Given the description of an element on the screen output the (x, y) to click on. 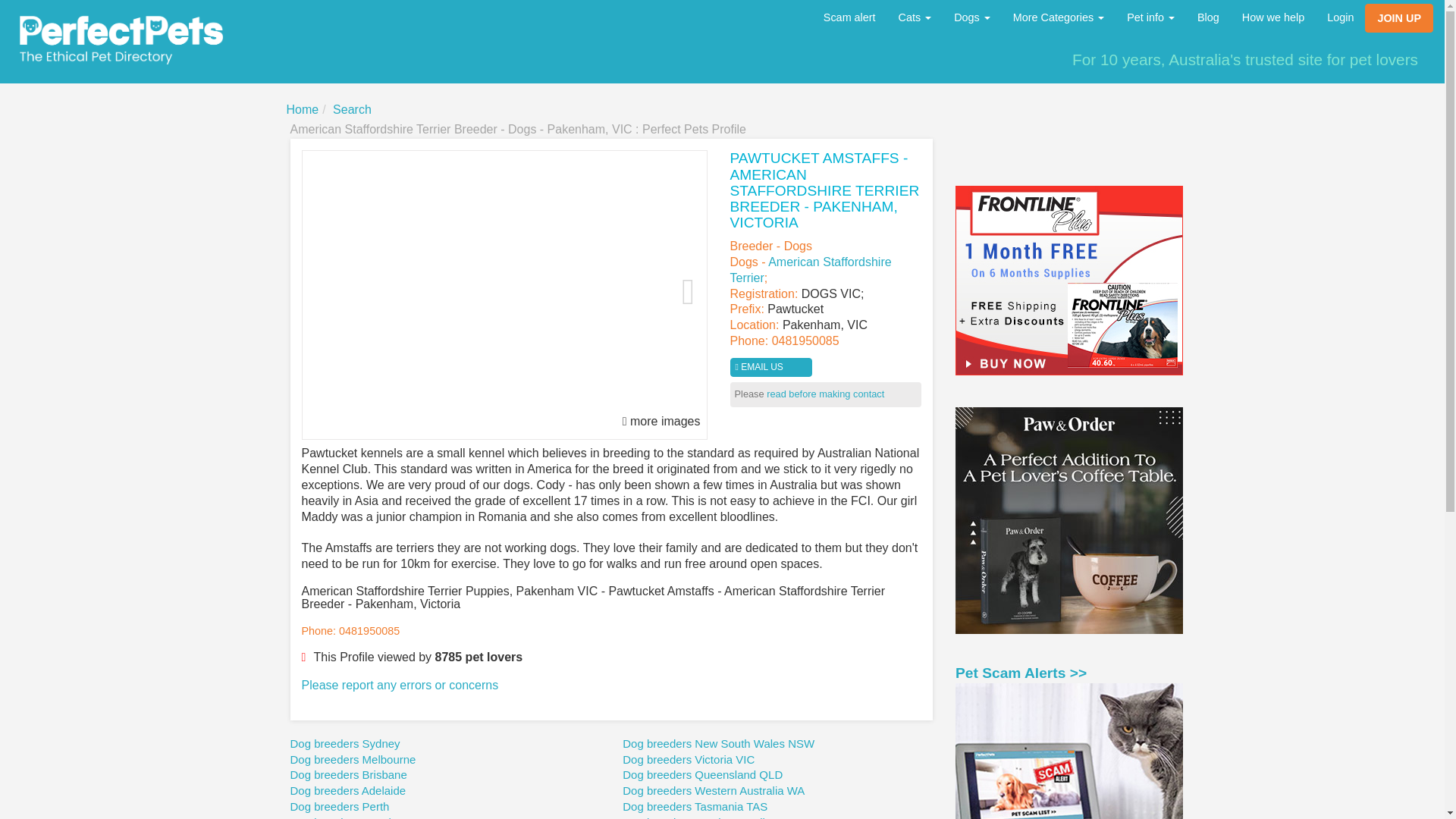
Home (302, 109)
Login (1340, 17)
more images (661, 421)
Pet info (1150, 17)
JOIN UP (1398, 18)
Dogs (971, 17)
Blog (1208, 17)
How we help (1273, 17)
Scam alert (849, 17)
Search (352, 109)
